Given the description of an element on the screen output the (x, y) to click on. 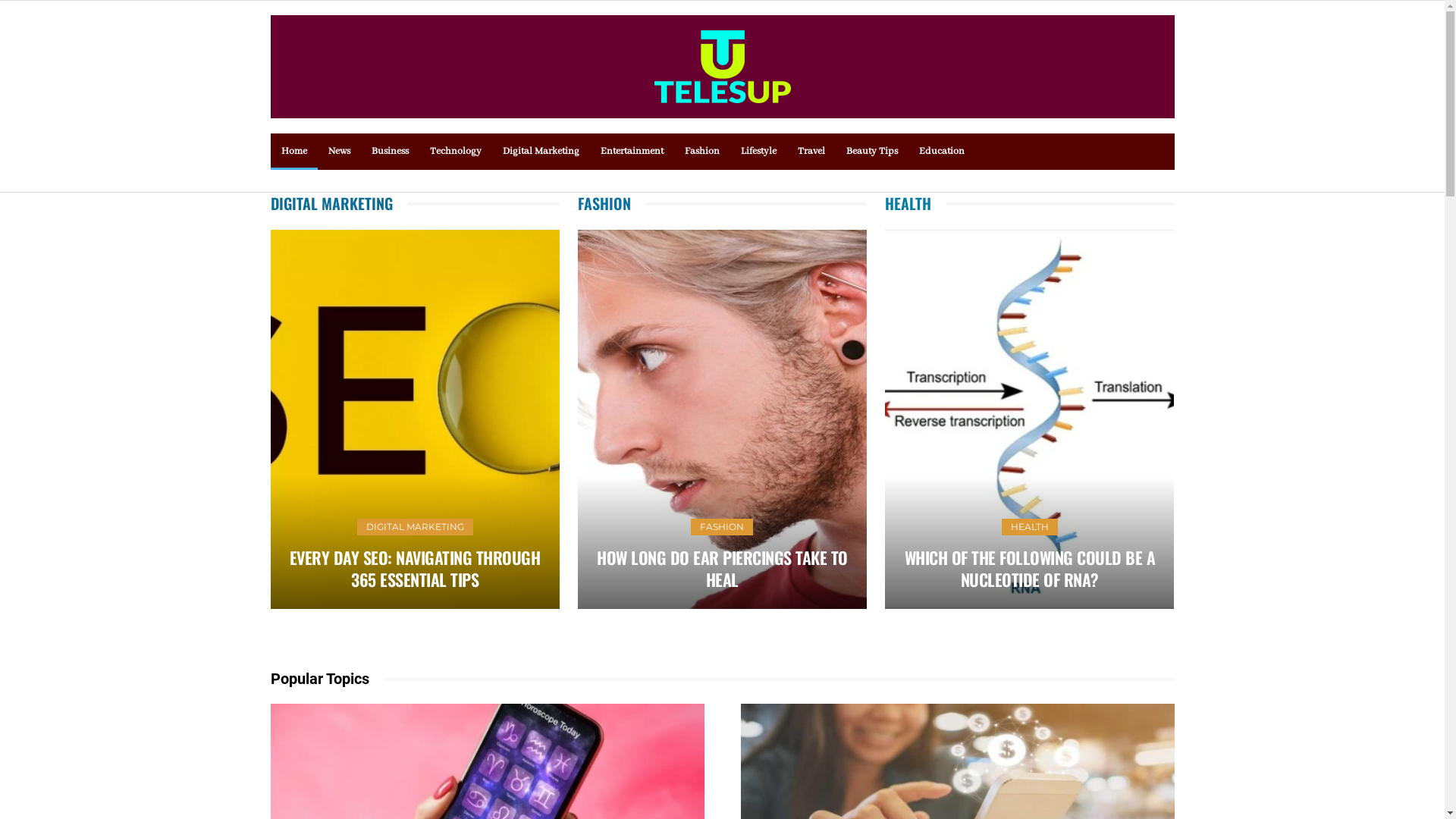
Entertainment Element type: text (631, 151)
Which of the Following Could Be a Nucleotide of RNA? Element type: hover (1028, 418)
Education Element type: text (941, 151)
Top 5 Ways To Increase Sales Using Local SEO Element type: hover (703, 418)
Technology Element type: text (454, 151)
Digital Marketing Element type: text (540, 151)
Lifestyle Element type: text (757, 151)
FASHION Element type: text (721, 526)
Travel Element type: text (811, 151)
HOW LONG DO EAR PIERCINGS TAKE TO HEAL Element type: text (721, 568)
Beauty Tips Element type: text (871, 151)
News Element type: text (338, 151)
Fashion Element type: text (701, 151)
HEALTH Element type: text (1029, 526)
Business Element type: text (389, 151)
How Long Do Ear Piercings Take To Heal Element type: hover (721, 418)
Every Day SEO: Navigating Through 365 Essential Tips Element type: hover (413, 418)
EVERY DAY SEO: NAVIGATING THROUGH 365 ESSENTIAL TIPS Element type: text (414, 568)
WHICH OF THE FOLLOWING COULD BE A NUCLEOTIDE OF RNA? Element type: text (1029, 568)
Home Element type: text (292, 151)
DIGITAL MARKETING Element type: text (415, 526)
